Given the description of an element on the screen output the (x, y) to click on. 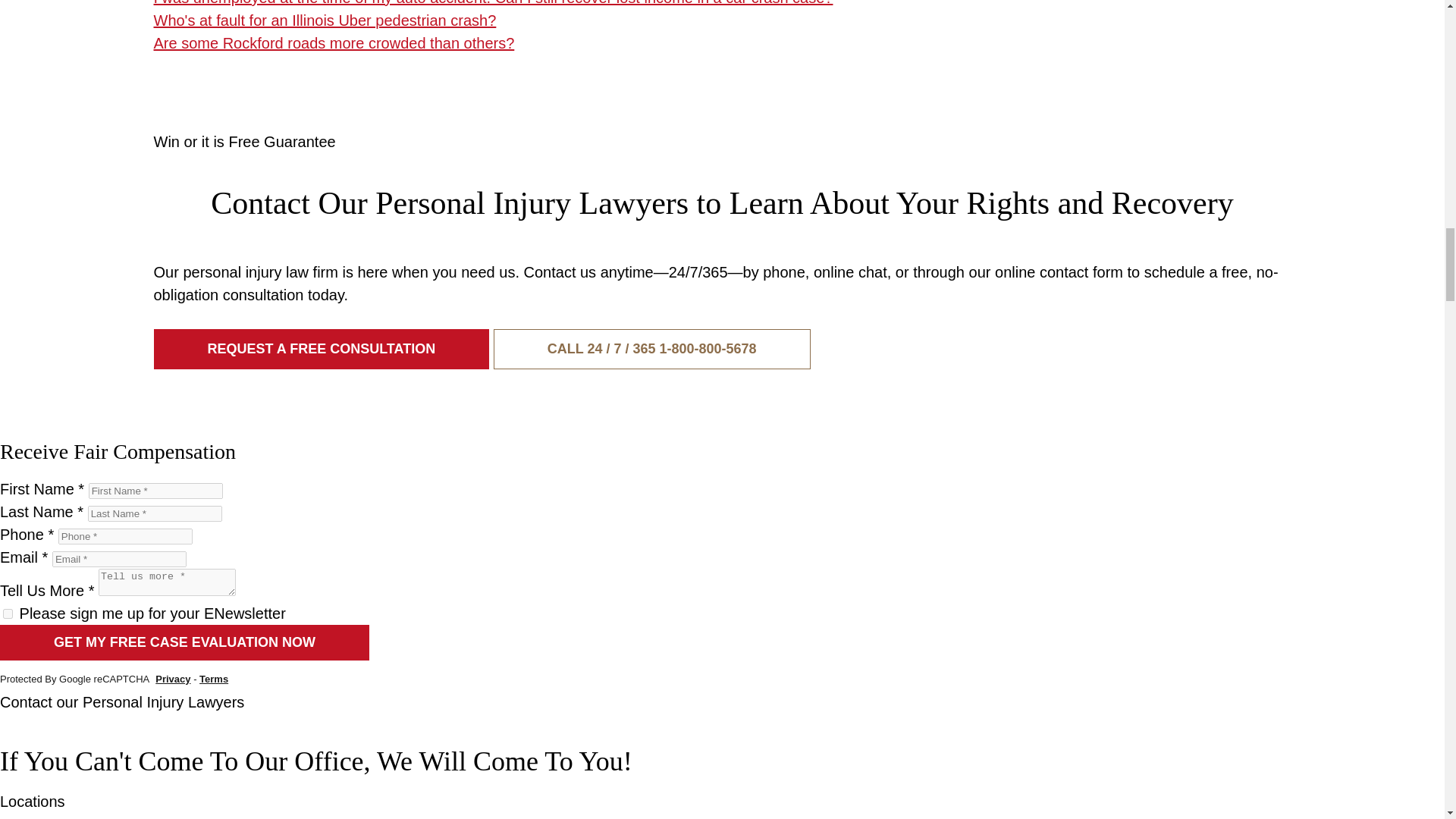
Please sign me up for your ENewsletter (7, 614)
